Given the description of an element on the screen output the (x, y) to click on. 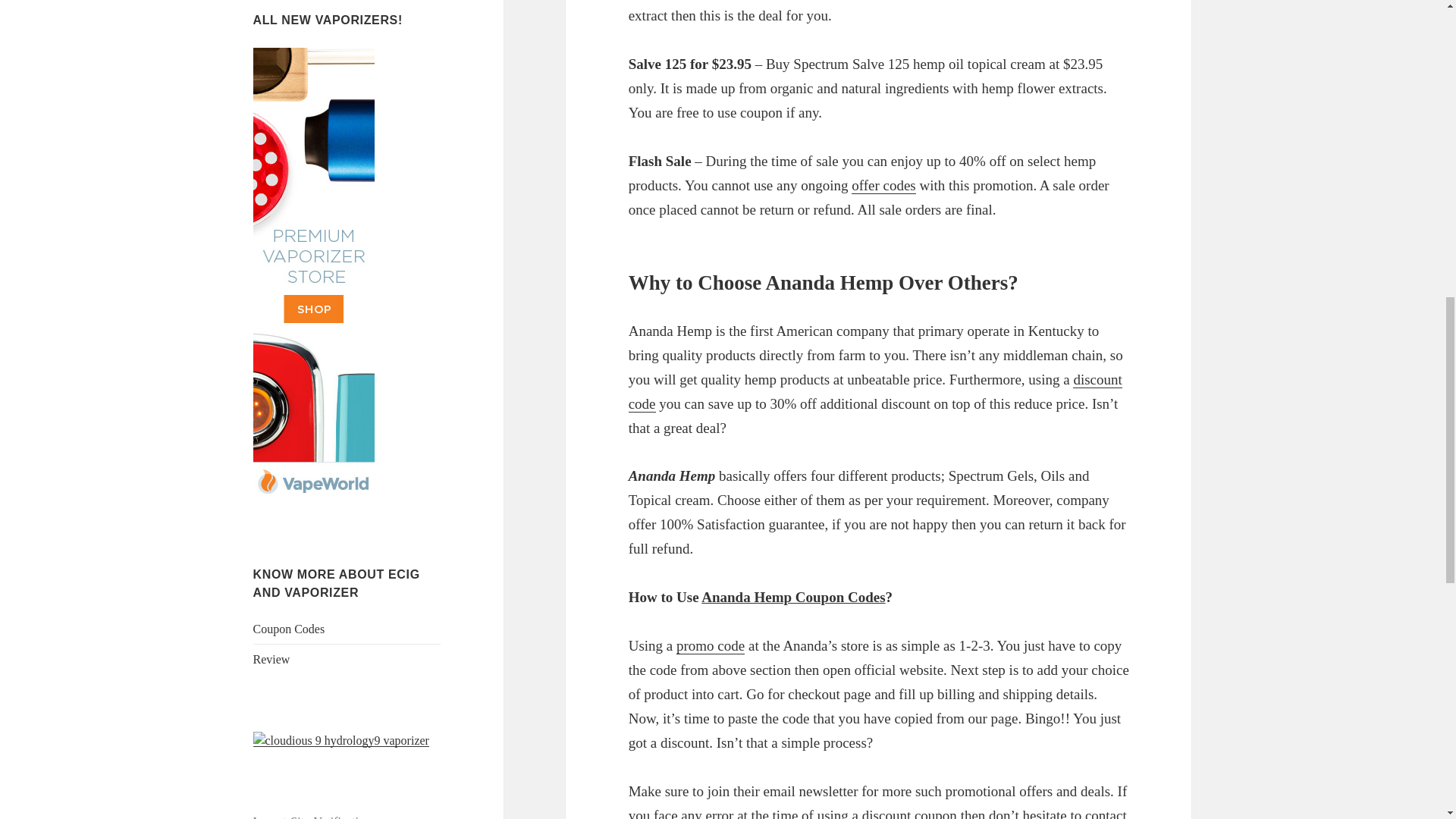
discount code (875, 391)
discount coupon (908, 813)
Coupon Codes (288, 628)
product review (271, 658)
offer codes (883, 185)
Review (271, 658)
promo code (710, 646)
